Given the description of an element on the screen output the (x, y) to click on. 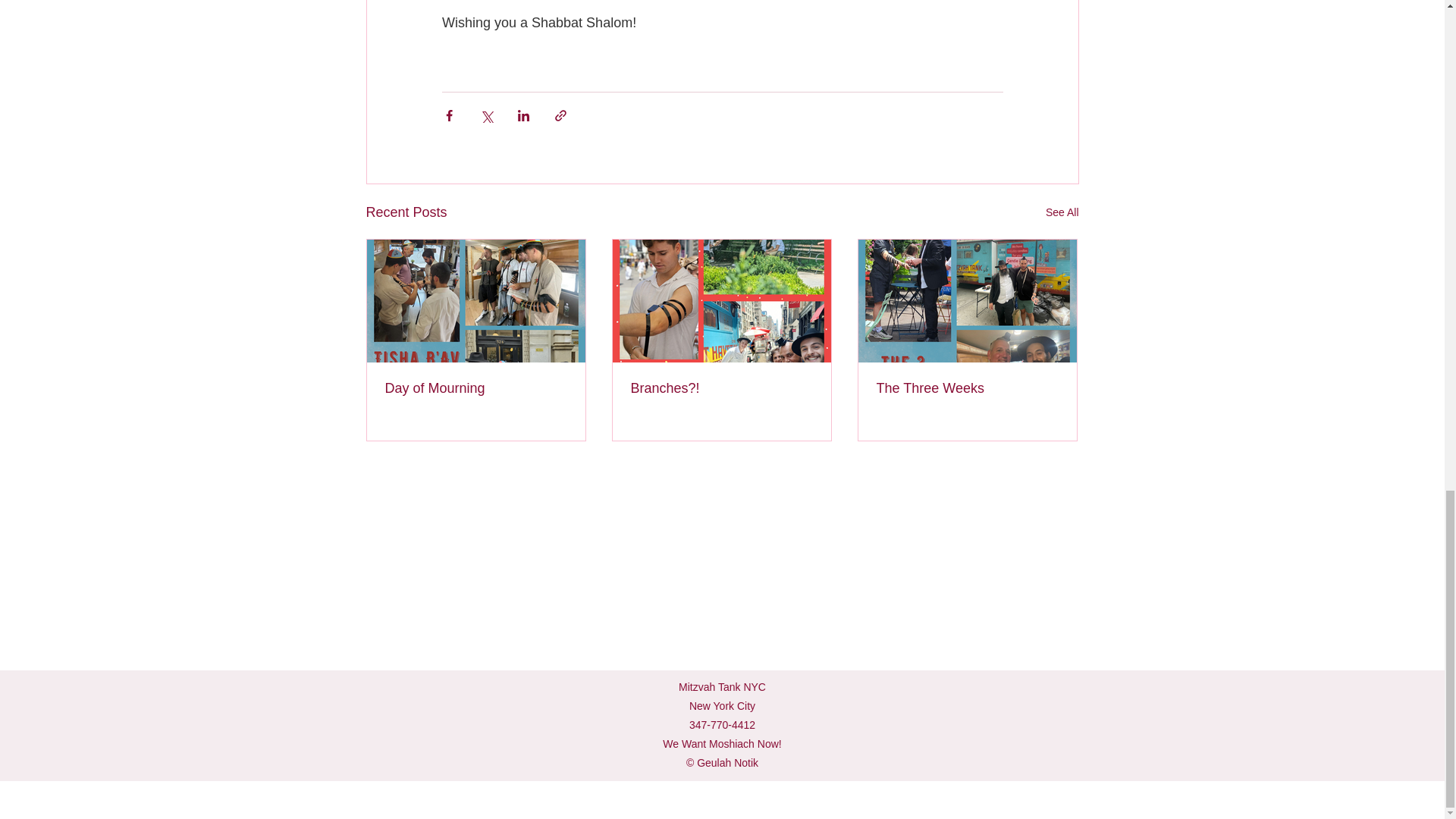
Branches?! (721, 388)
The Three Weeks (967, 388)
Day of Mourning (476, 388)
See All (1061, 212)
